Given the description of an element on the screen output the (x, y) to click on. 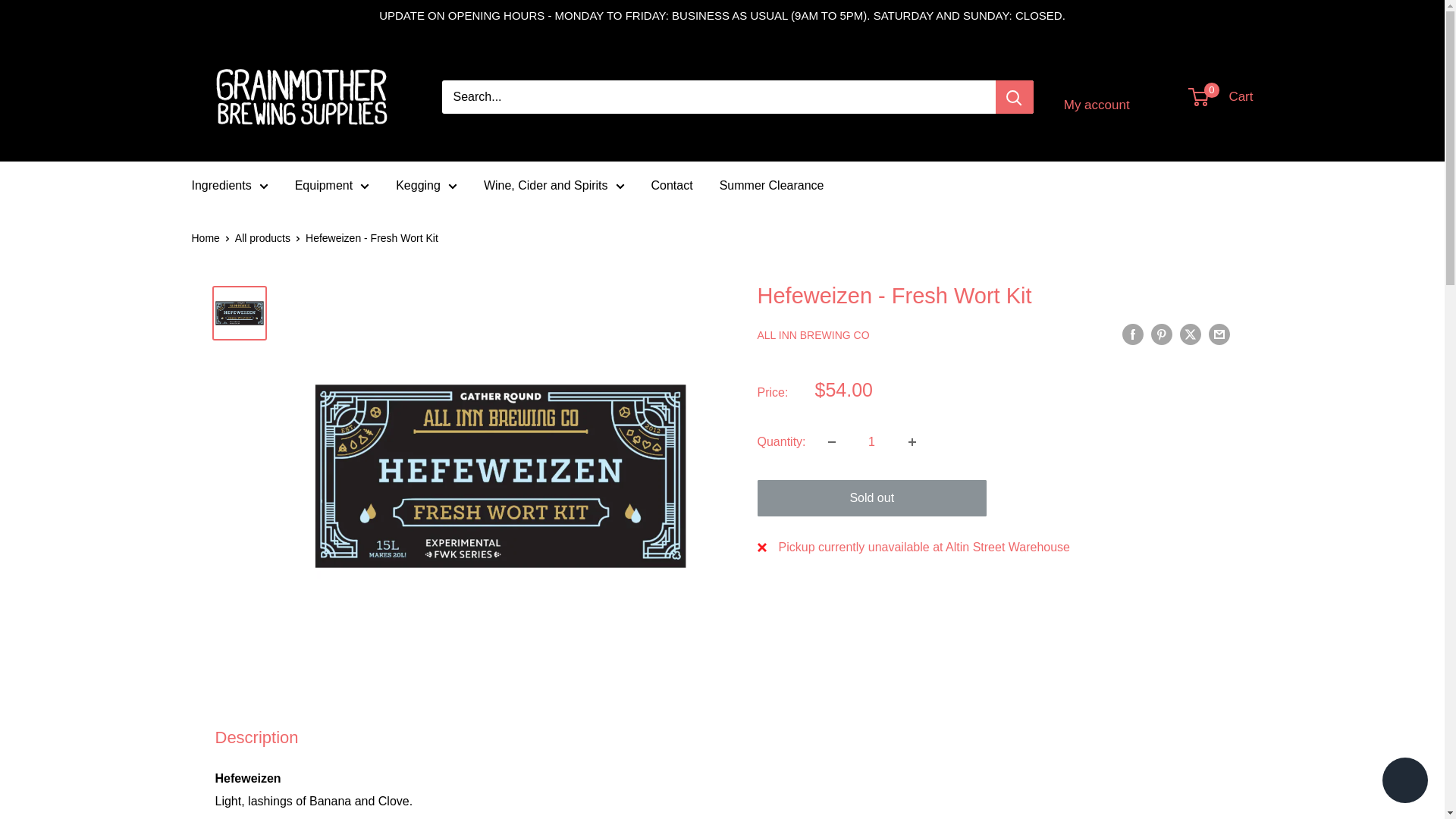
Decrease quantity by 1 (831, 441)
1 (871, 441)
Shopify online store chat (1404, 781)
Increase quantity by 1 (912, 441)
